Given the description of an element on the screen output the (x, y) to click on. 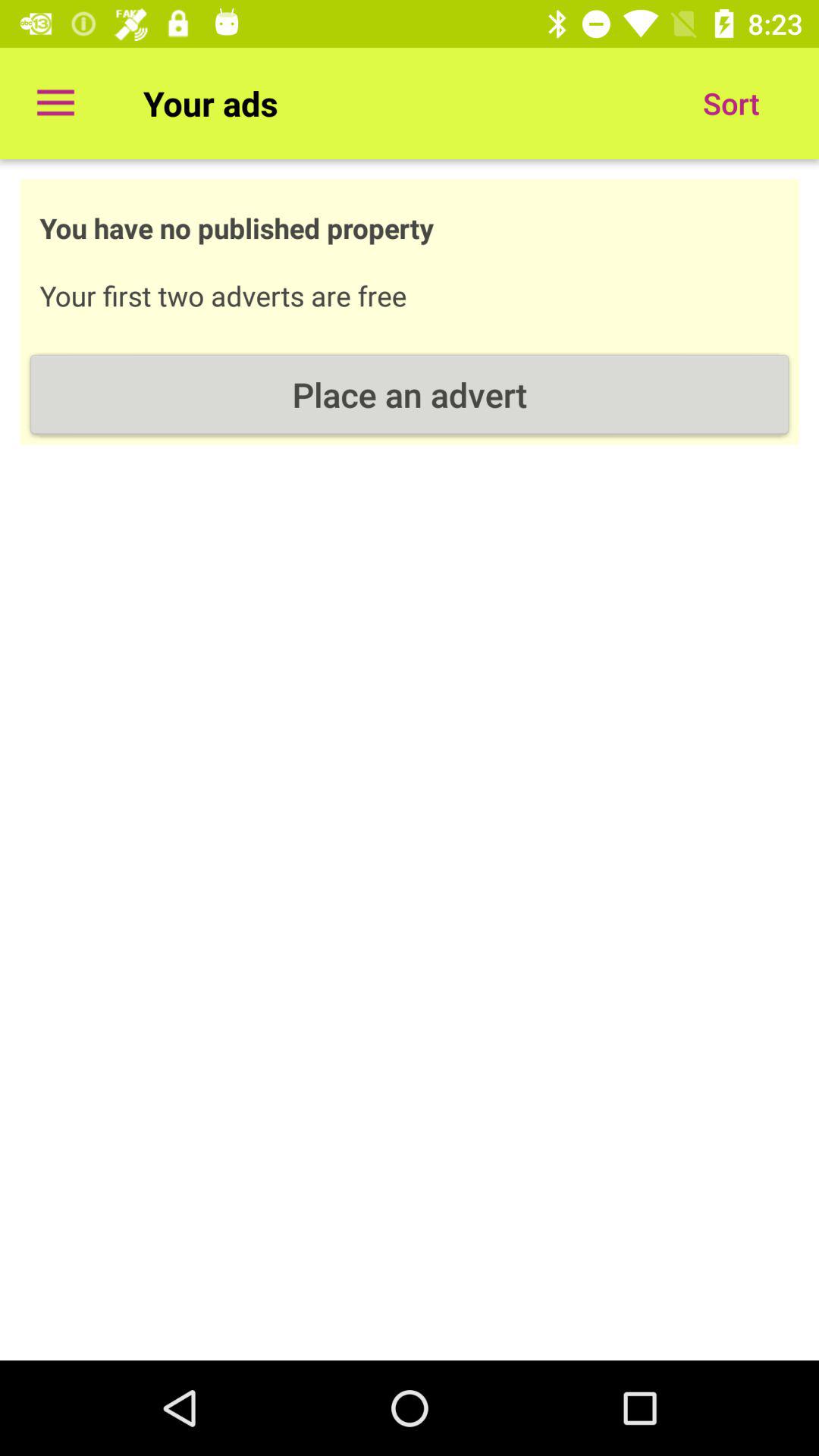
open item to the right of your ads icon (731, 103)
